Given the description of an element on the screen output the (x, y) to click on. 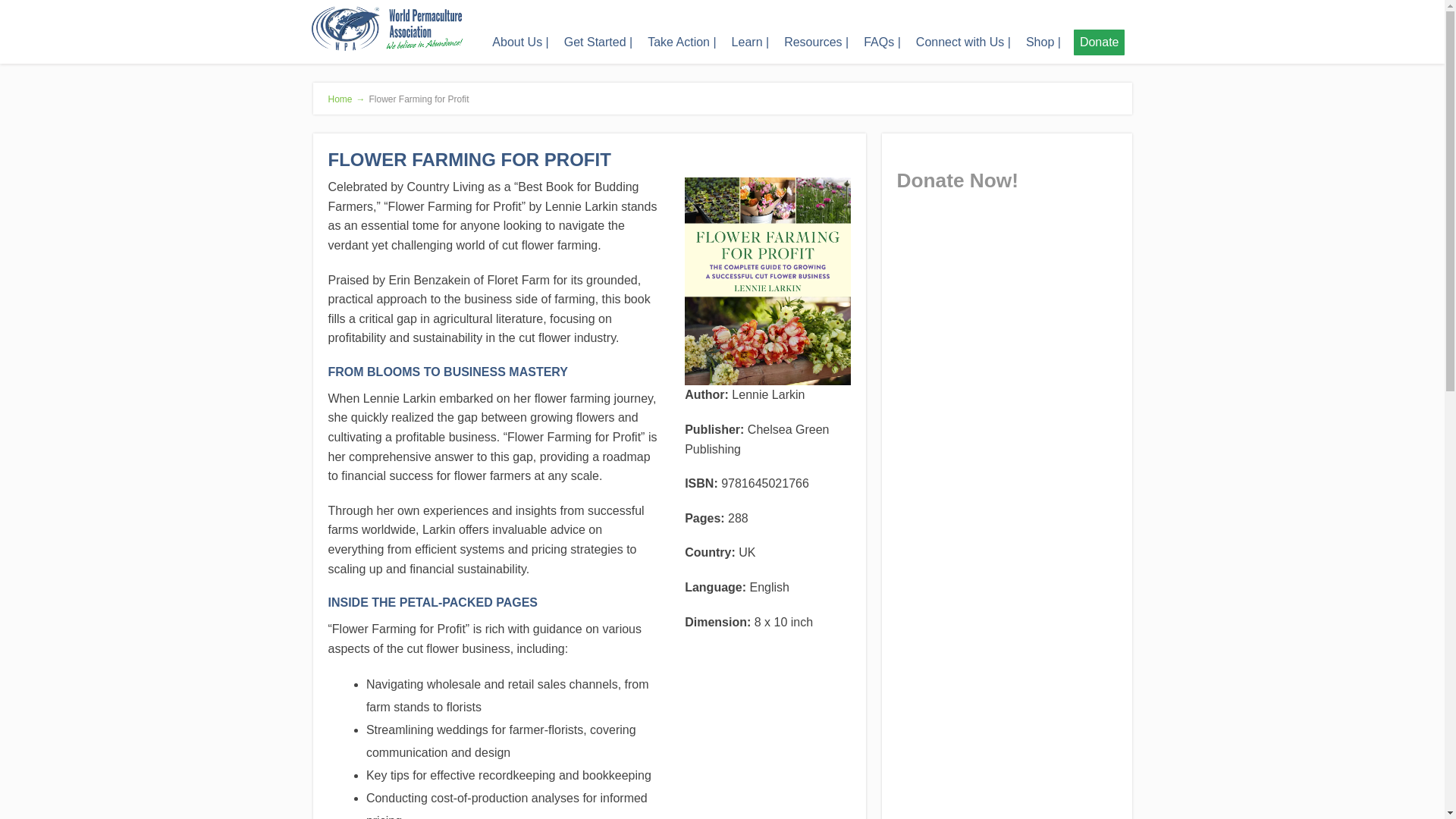
Donate (1098, 41)
